Given the description of an element on the screen output the (x, y) to click on. 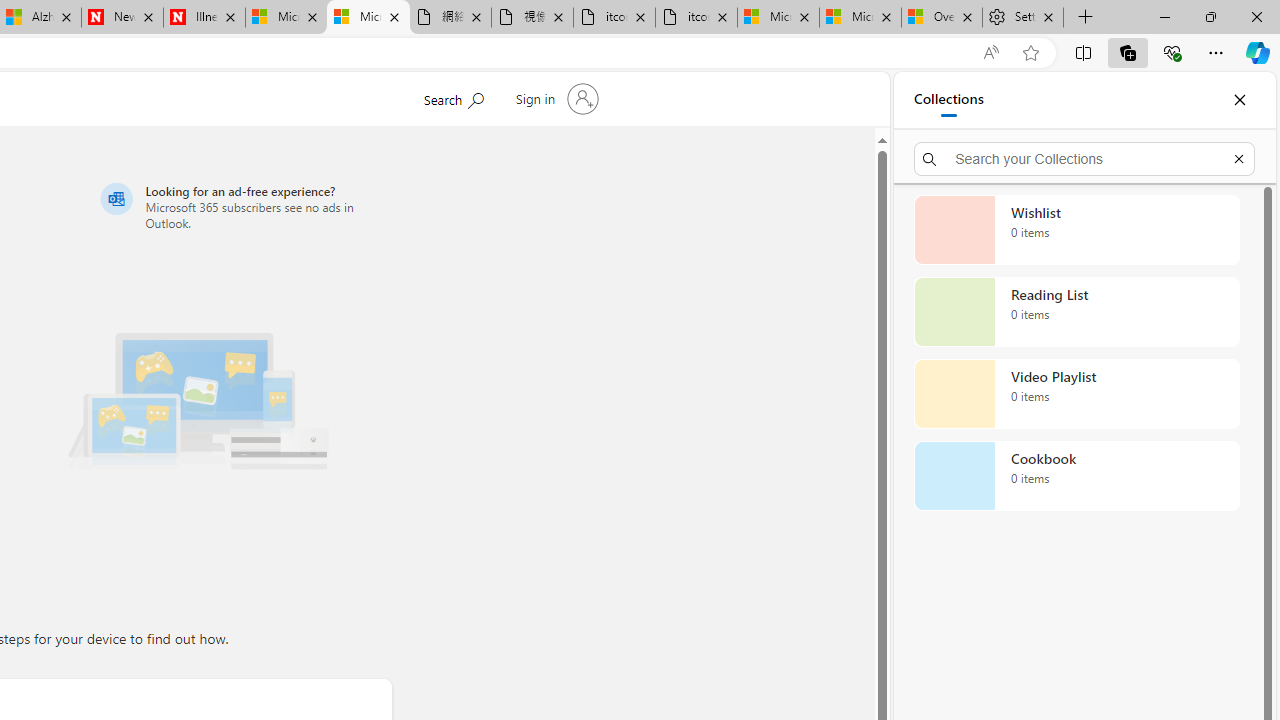
Cookbook collection, 0 items (1076, 475)
Reading List collection, 0 items (1076, 312)
Newsweek - News, Analysis, Politics, Business, Technology (121, 17)
Sign in to your account (554, 98)
Wishlist collection, 0 items (1076, 229)
Search your Collections (1084, 158)
Overview (941, 17)
